Given the description of an element on the screen output the (x, y) to click on. 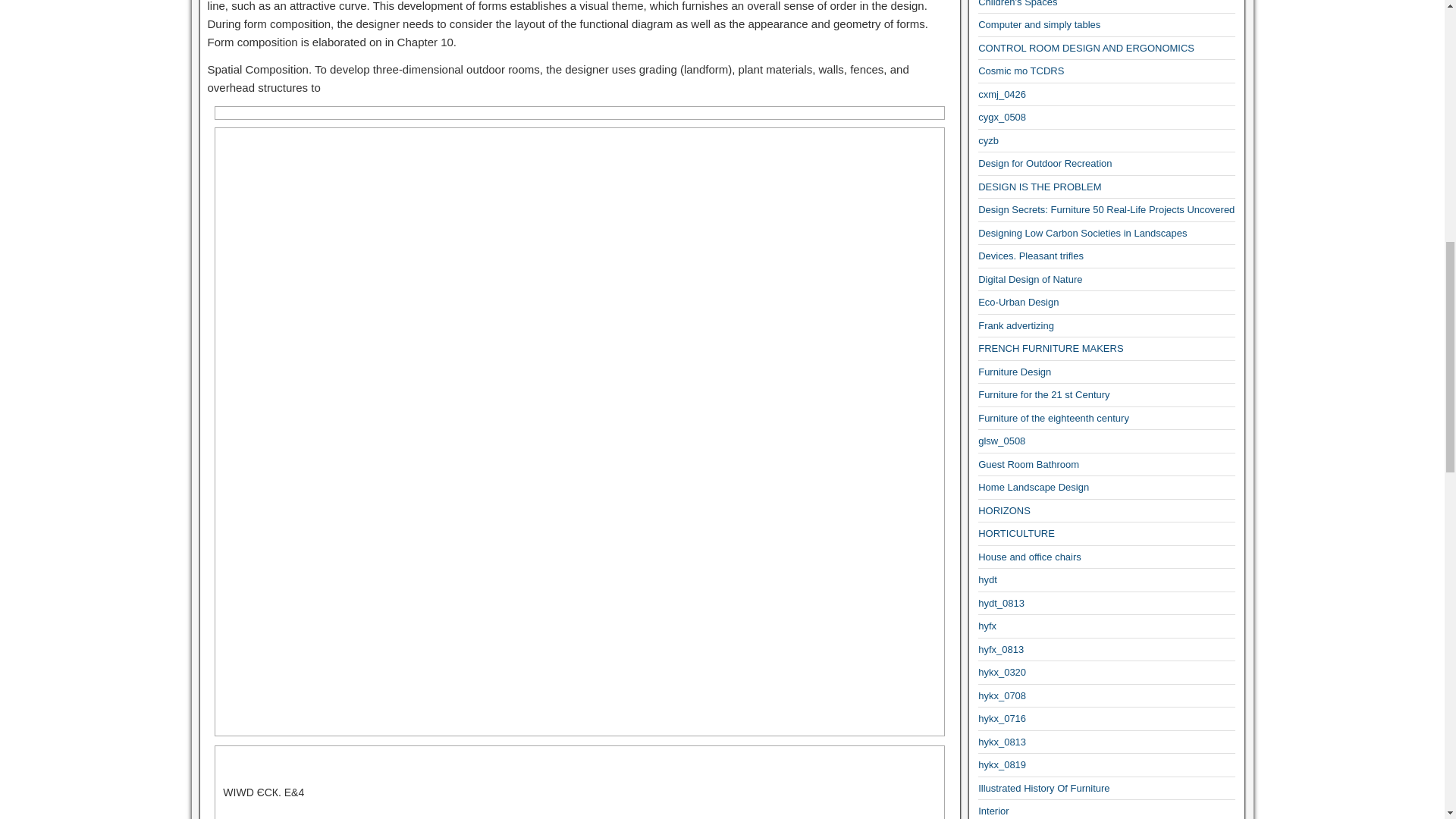
CONTROL ROOM DESIGN AND ERGONOMICS (1085, 48)
Children's Spaces (1017, 3)
Designing Low Carbon Societies in Landscapes (1082, 233)
Computer and simply tables (1039, 24)
Devices. Pleasant trifles (1030, 255)
DESIGN IS THE PROBLEM (1039, 186)
Design Secrets: Furniture 50 Real-Life Projects Uncovered (1106, 209)
Design for Outdoor Recreation (1045, 163)
cyzb (988, 140)
Cosmic mo TCDRS (1021, 70)
